Given the description of an element on the screen output the (x, y) to click on. 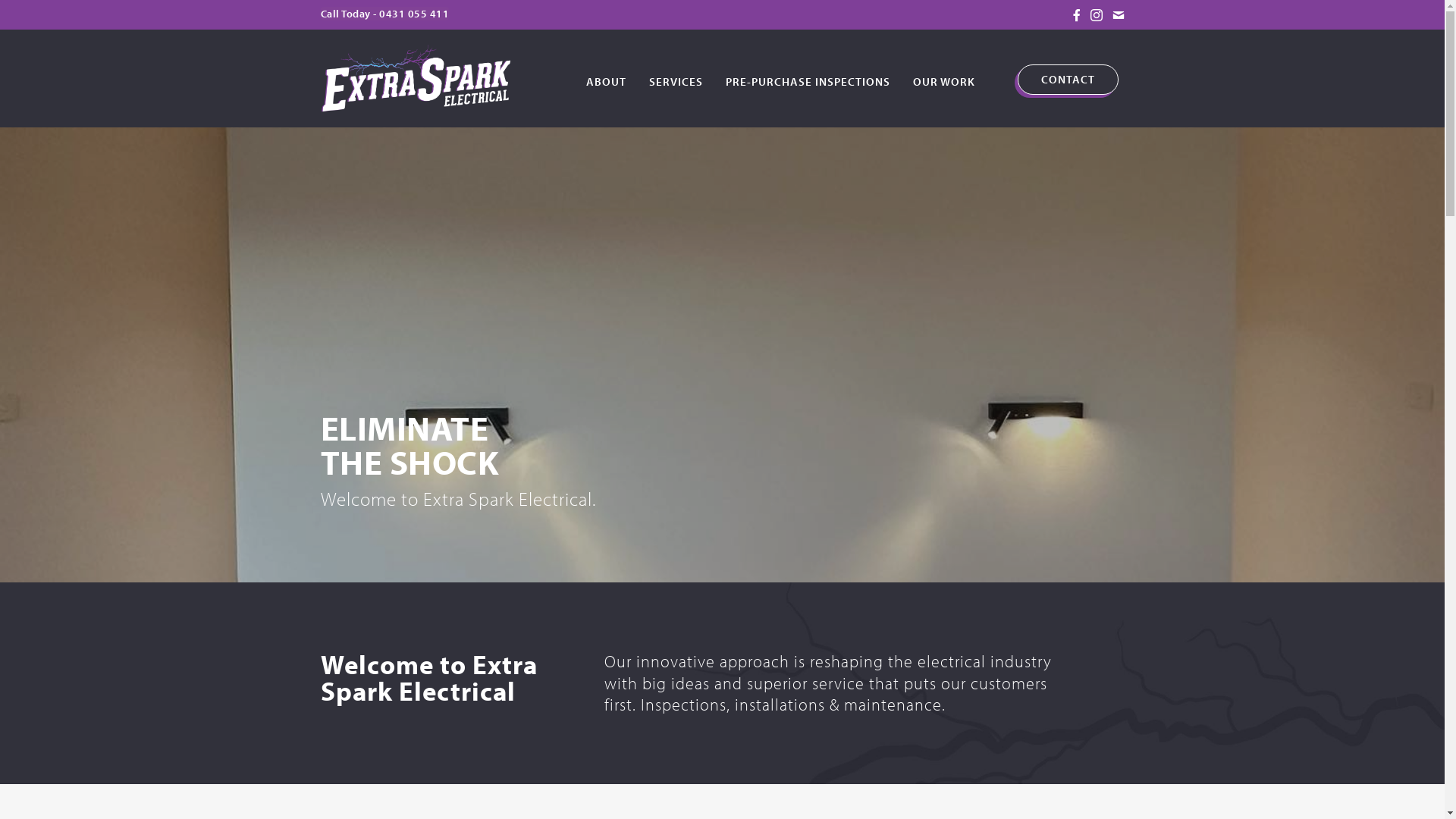
OUR WORK Element type: text (944, 80)
SERVICES Element type: text (675, 80)
Extra_Spark_Logo_INVERSE Element type: hover (414, 76)
PRE-PURCHASE INSPECTIONS Element type: text (807, 80)
Call Today - 0431 055 411 Element type: text (384, 13)
ABOUT Element type: text (606, 80)
CONTACT Element type: text (1067, 79)
